Given the description of an element on the screen output the (x, y) to click on. 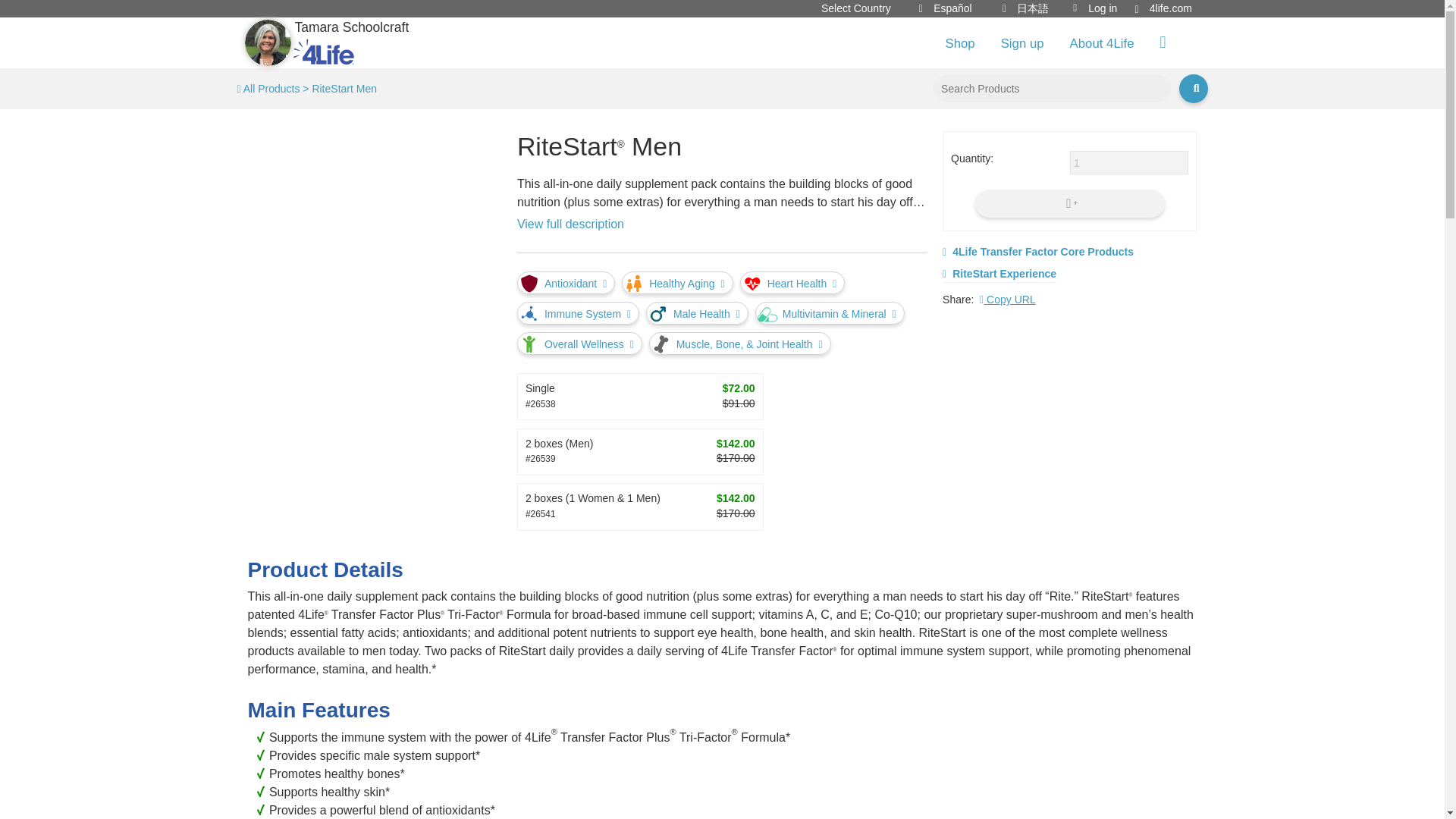
About 4Life (1102, 43)
View full description (570, 223)
4Life Transfer Factor Core Products (1038, 252)
Antioxidant (565, 282)
Add to Cart (1069, 203)
RiteStart Experience (999, 274)
Healthy Aging (677, 282)
Sign up (1022, 43)
Log in (1095, 8)
Male Health (697, 313)
